Given the description of an element on the screen output the (x, y) to click on. 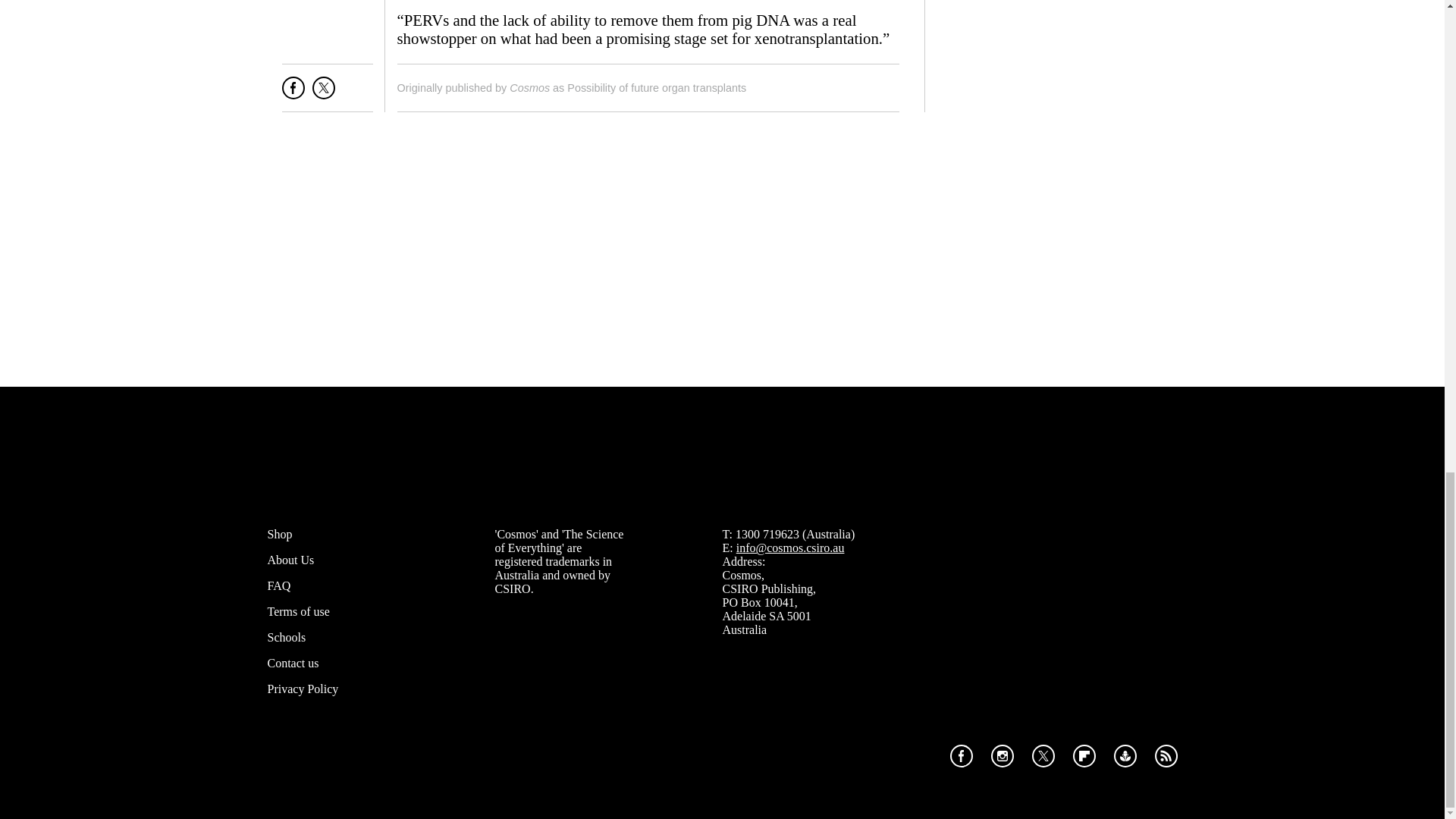
Share on Facebook (293, 93)
Possibility of future organ transplants (656, 87)
Tweet (323, 93)
